Given the description of an element on the screen output the (x, y) to click on. 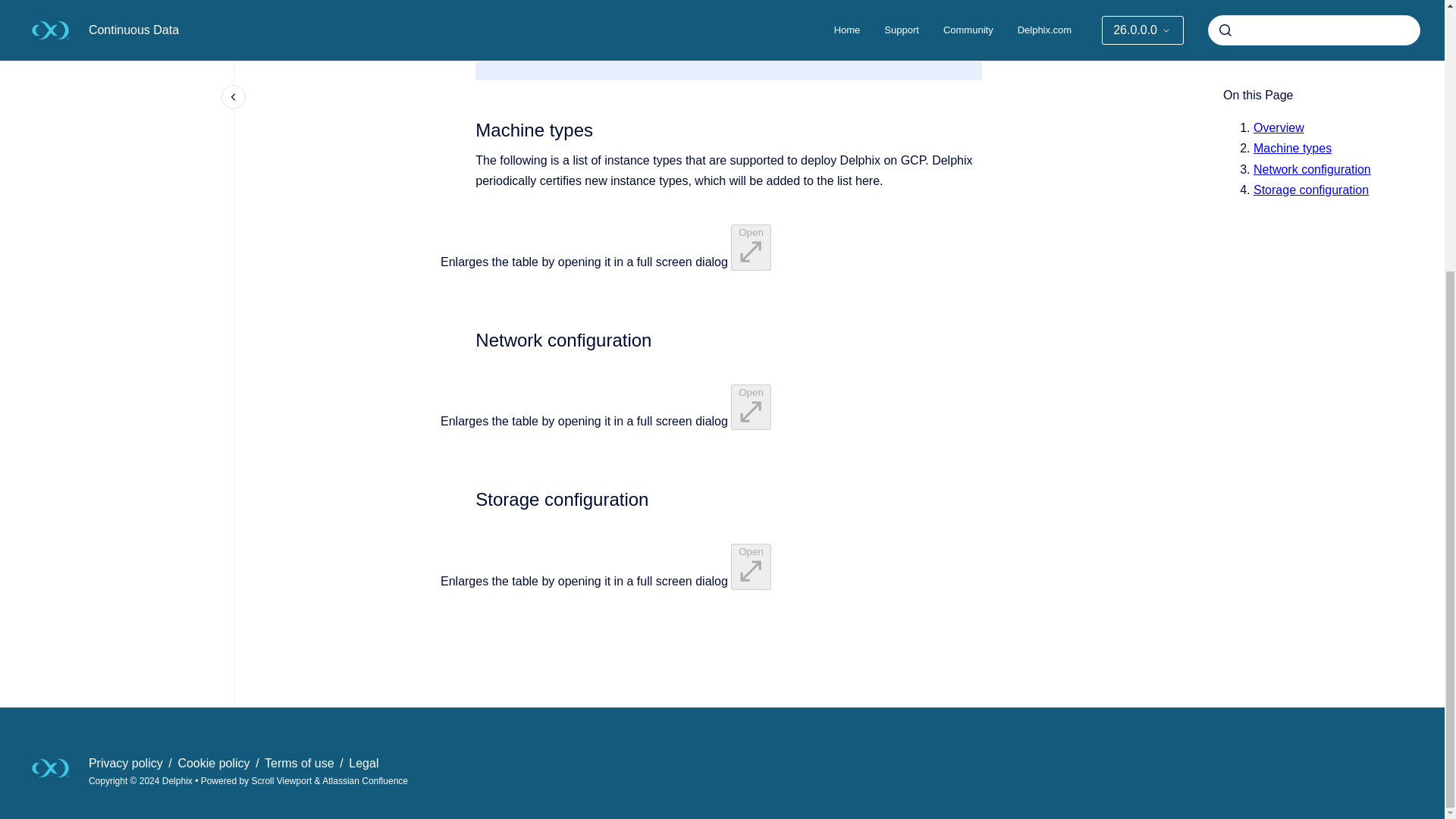
Legal (363, 762)
Atlassian Confluence (364, 780)
Privacy policy (126, 762)
Terms of use (300, 762)
Scroll Viewport (282, 780)
Cookie policy (215, 762)
